Given the description of an element on the screen output the (x, y) to click on. 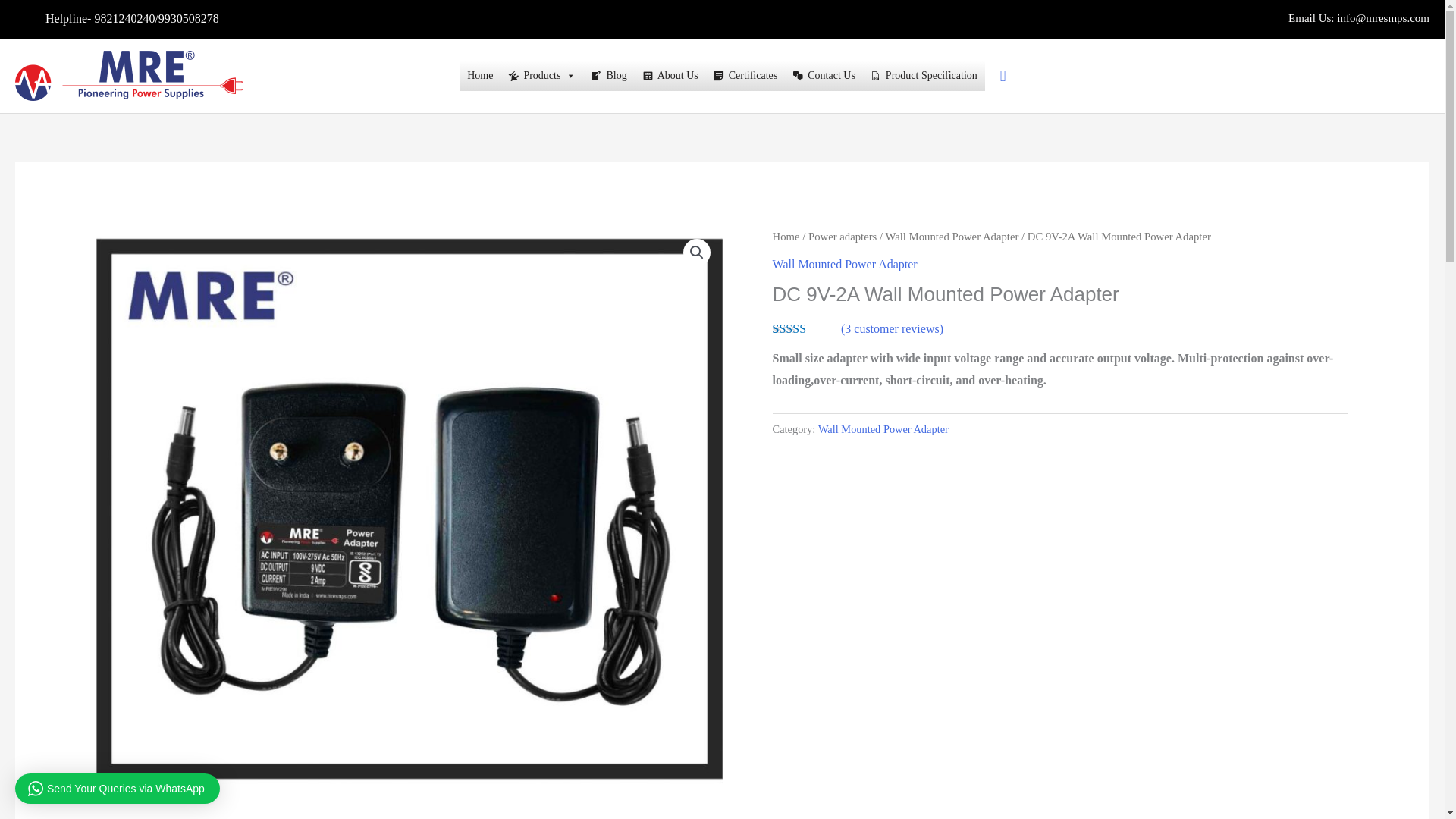
Products (541, 75)
Home (480, 75)
